Given the description of an element on the screen output the (x, y) to click on. 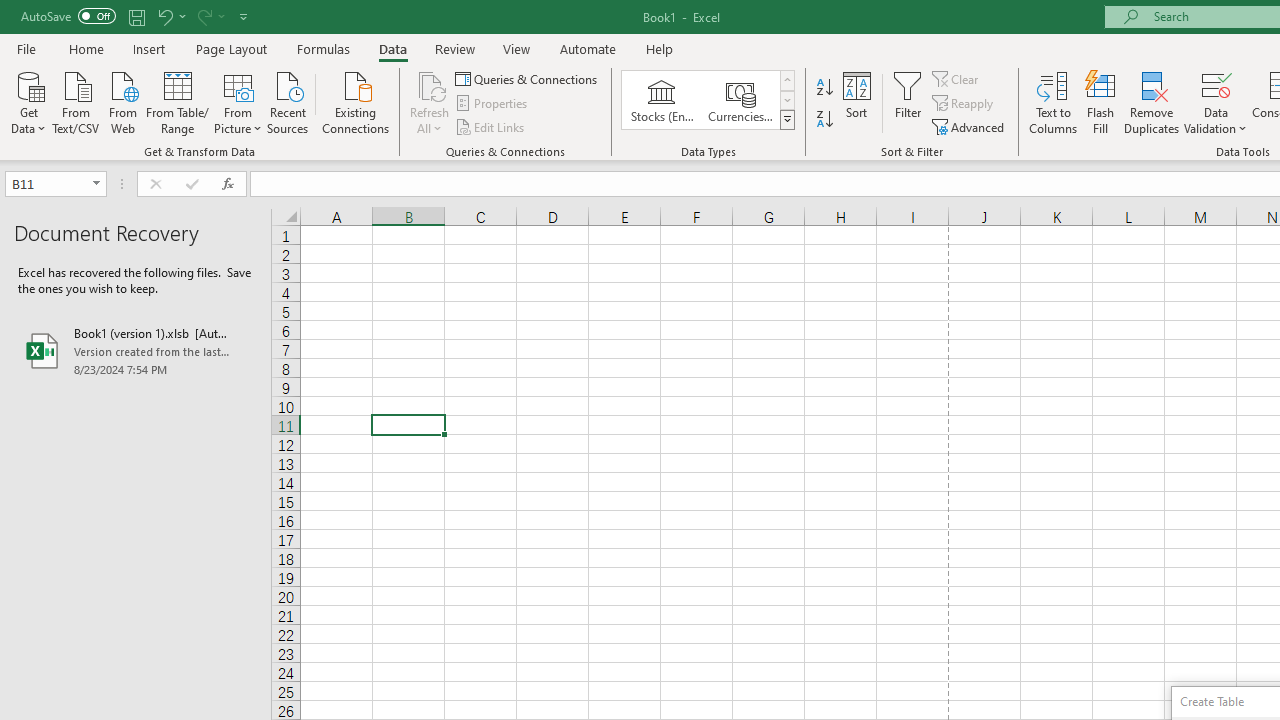
Flash Fill (1101, 102)
Get Data (28, 101)
Sort A to Z (824, 87)
Currencies (English) (740, 100)
Stocks (English) (662, 100)
From Picture (238, 101)
Text to Columns... (1053, 102)
From Text/CSV (75, 101)
